Given the description of an element on the screen output the (x, y) to click on. 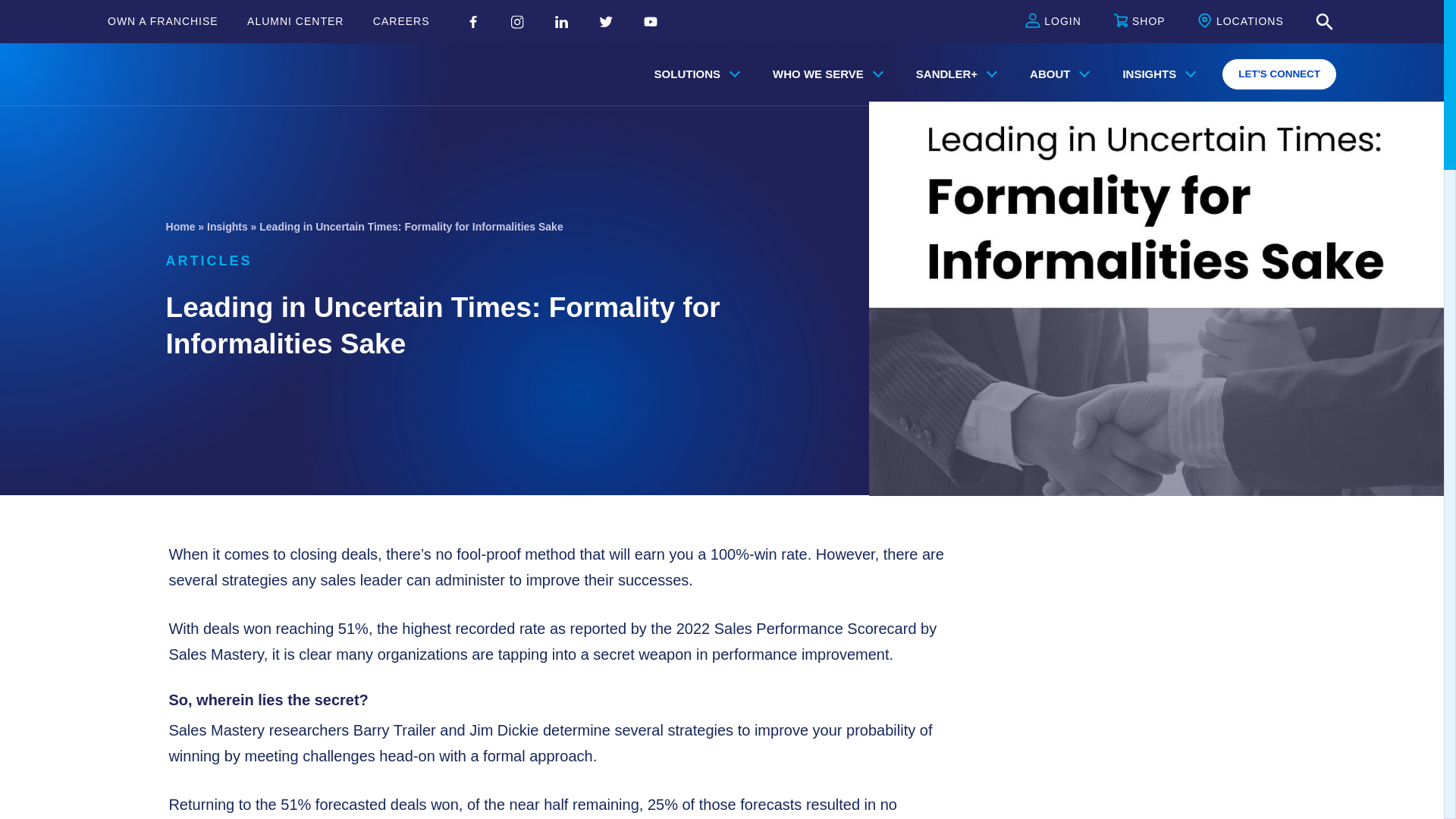
LOGIN (1053, 22)
OWN A FRANCHISE (162, 21)
ALUMNI CENTER (295, 21)
CAREERS (400, 21)
Open Search (1324, 21)
SHOP (1139, 22)
SOLUTIONS (694, 73)
WHO WE SERVE (824, 73)
LOCATIONS (1240, 22)
